Given the description of an element on the screen output the (x, y) to click on. 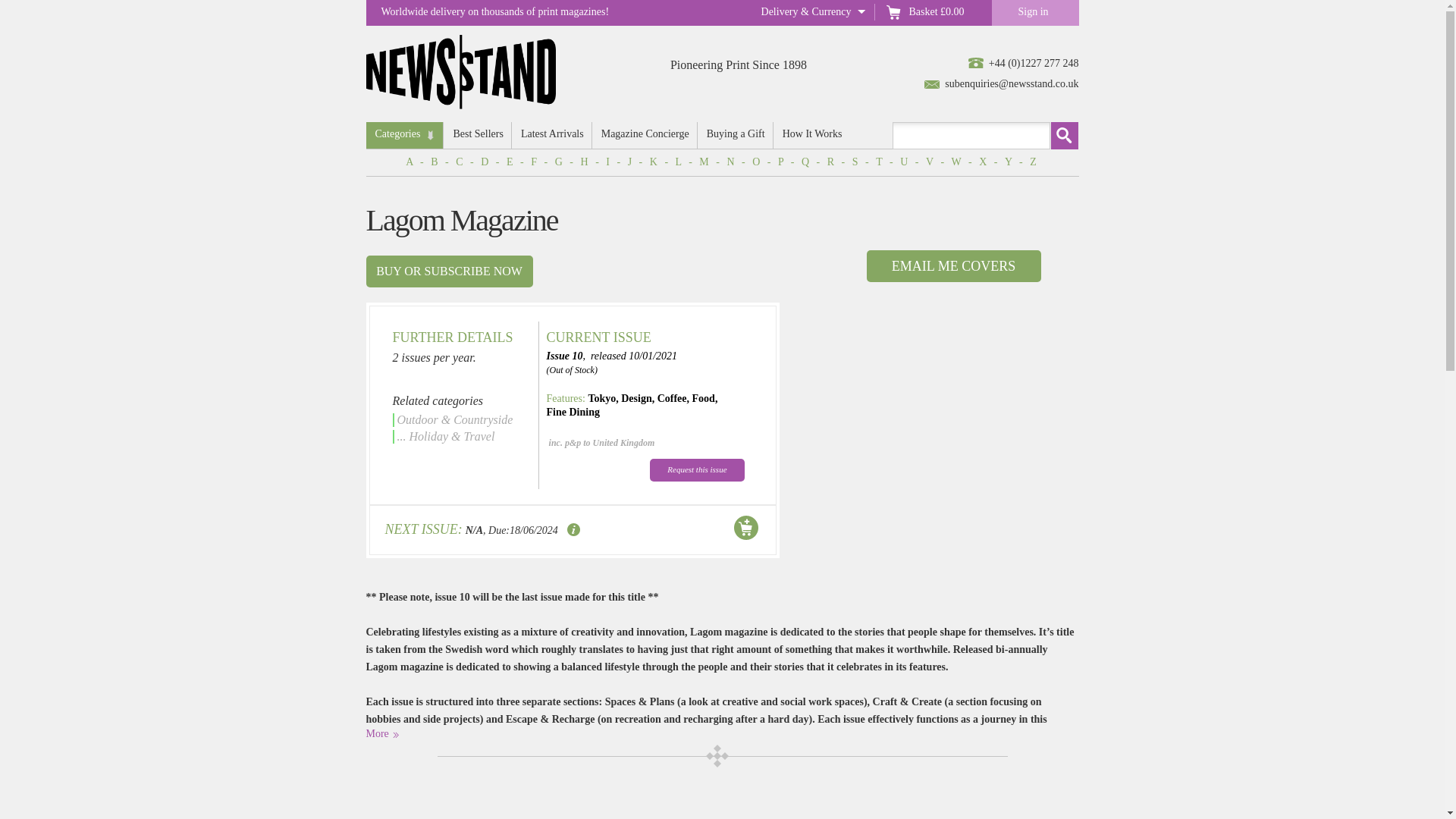
Click here to show other magazines featuring Tokyo (601, 398)
Request this issue (696, 469)
BUY OR SUBSCRIBE NOW (448, 271)
Categories (403, 135)
Click here to show other magazines featuring Design (635, 398)
Click here to show other magazines featuring Food (703, 398)
Click here to show other magazines featuring Fine Dining (573, 411)
Sign in (1034, 12)
Click here to show other magazines featuring Coffee (672, 398)
